Given the description of an element on the screen output the (x, y) to click on. 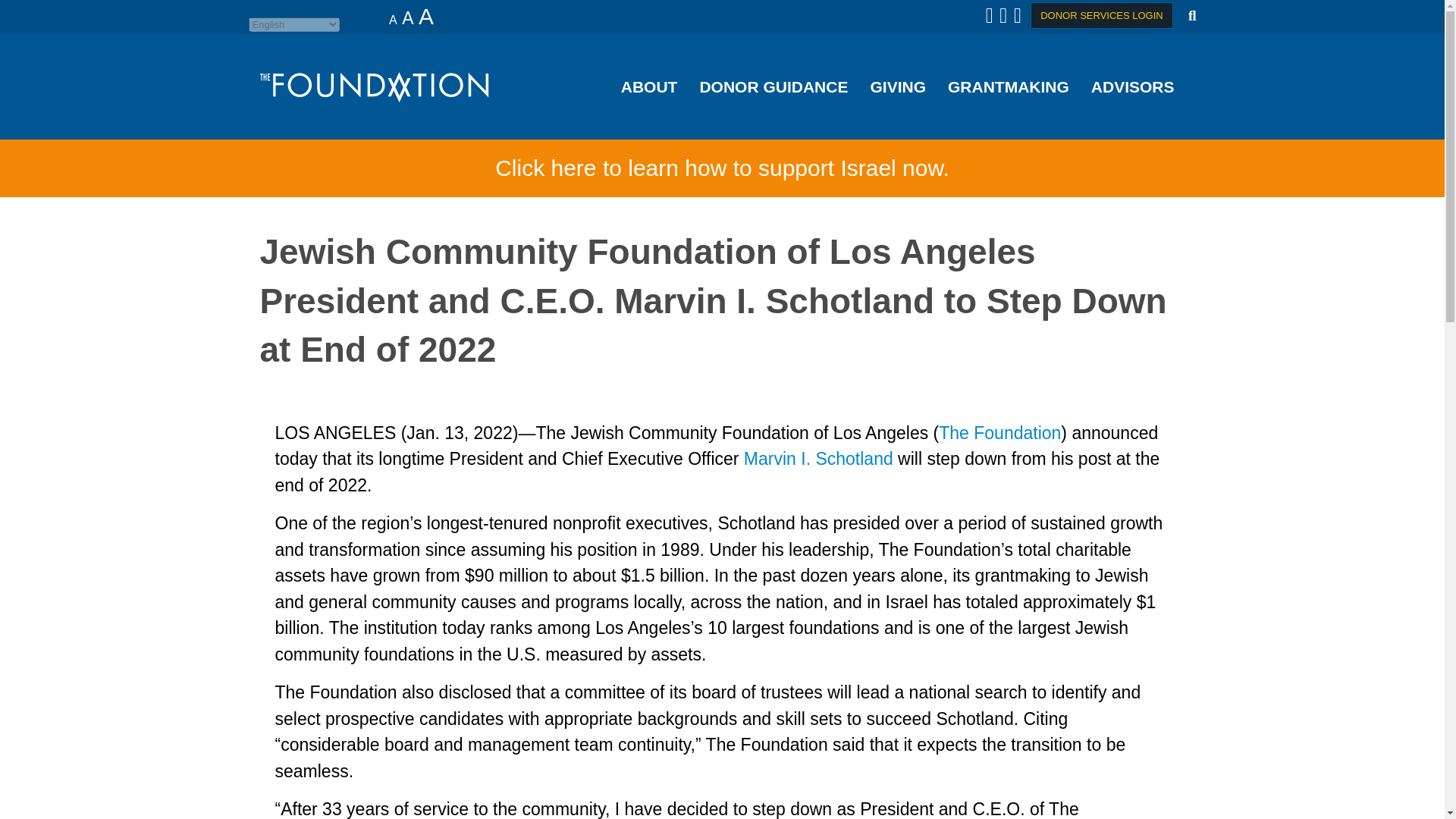
ABOUT (649, 86)
DONOR GUIDANCE (773, 86)
header-logo (373, 87)
GRANTMAKING (1008, 86)
GIVING (897, 86)
DONOR SERVICES LOGIN (1101, 15)
